Given the description of an element on the screen output the (x, y) to click on. 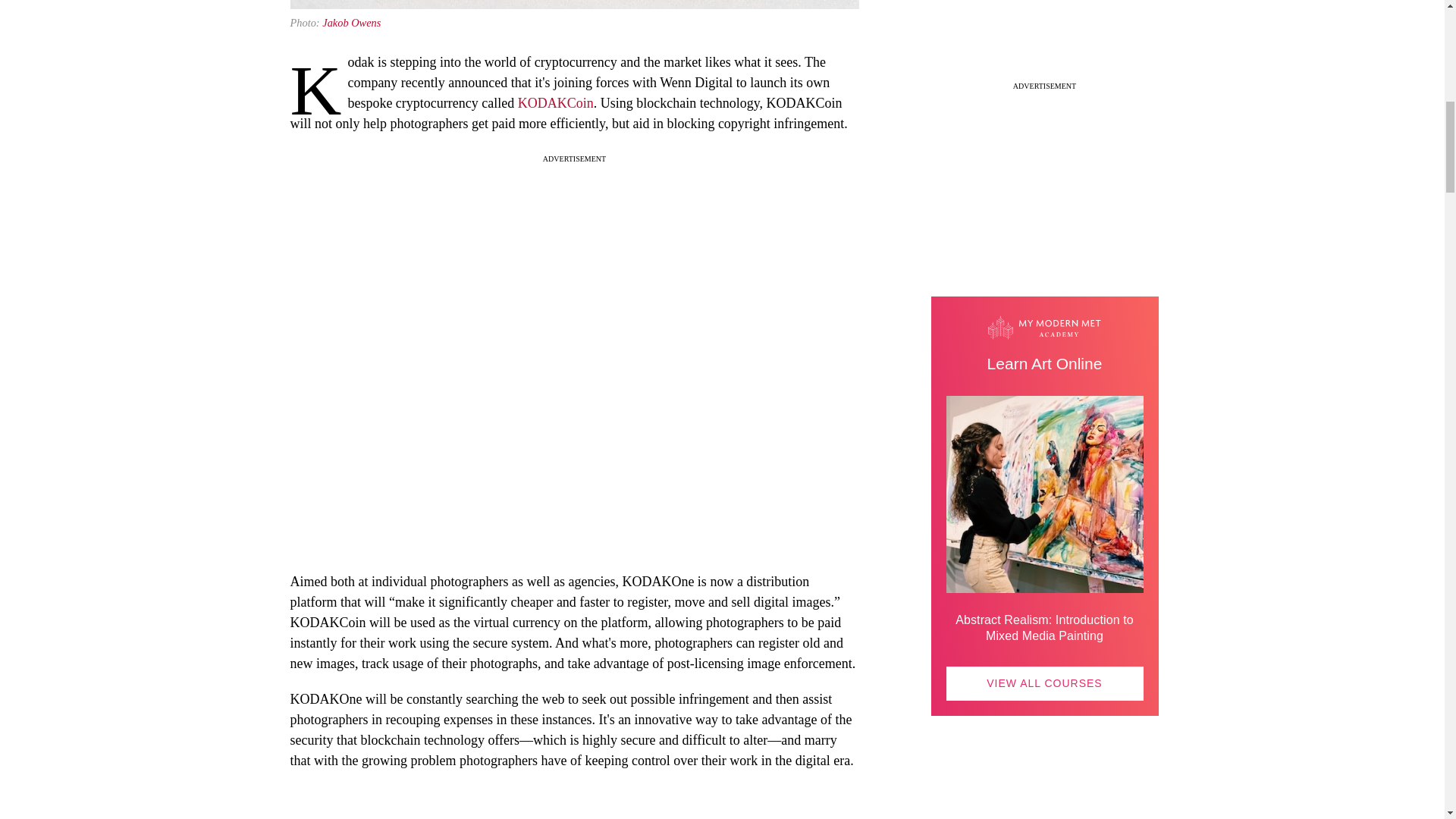
Visit Our Store (1044, 809)
